Given the description of an element on the screen output the (x, y) to click on. 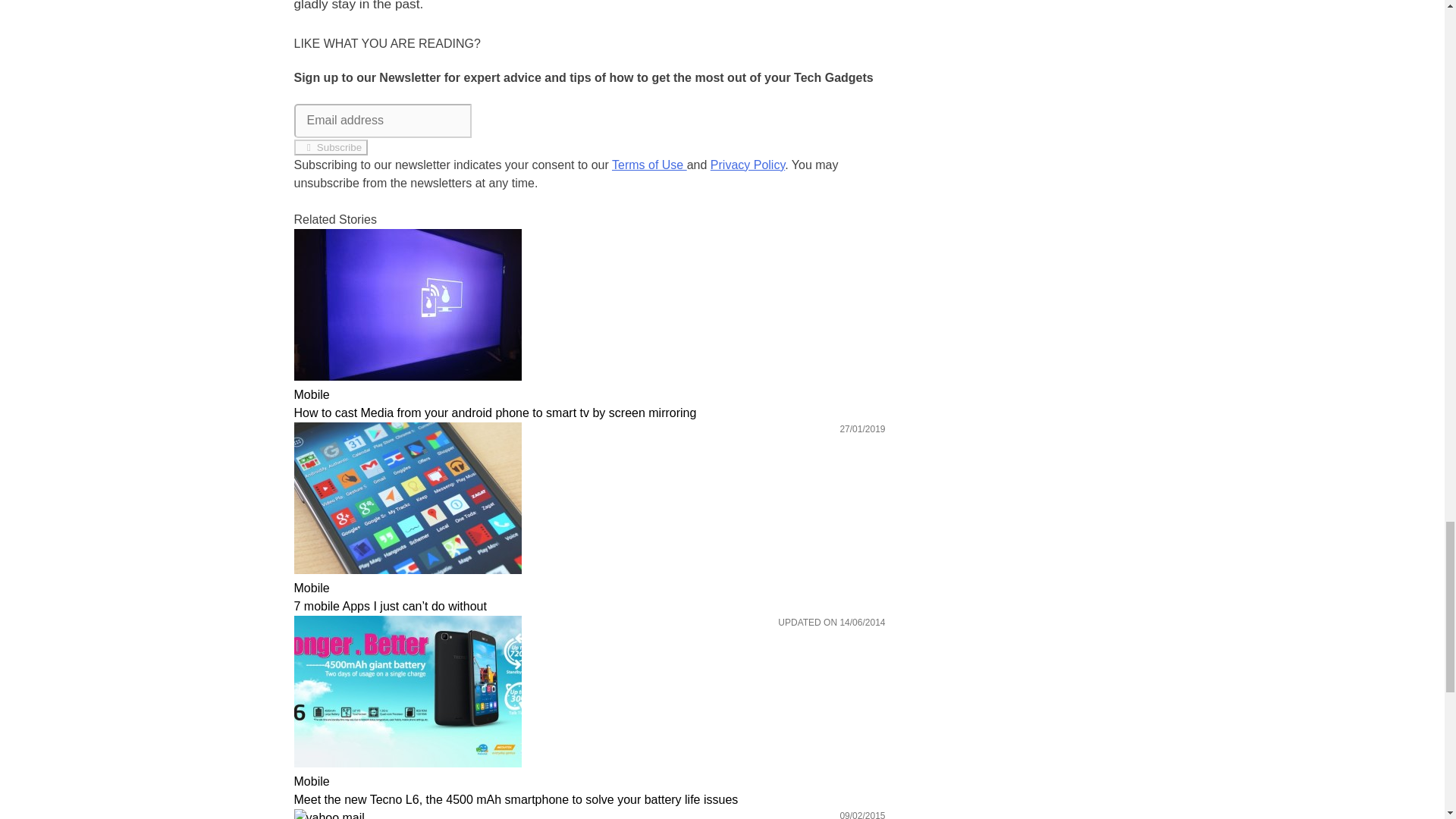
Mobile (589, 394)
Mobile (589, 588)
Yahoo Mail gets a new Mobile browser design and a Go app (589, 814)
Mobile (589, 782)
